Given the description of an element on the screen output the (x, y) to click on. 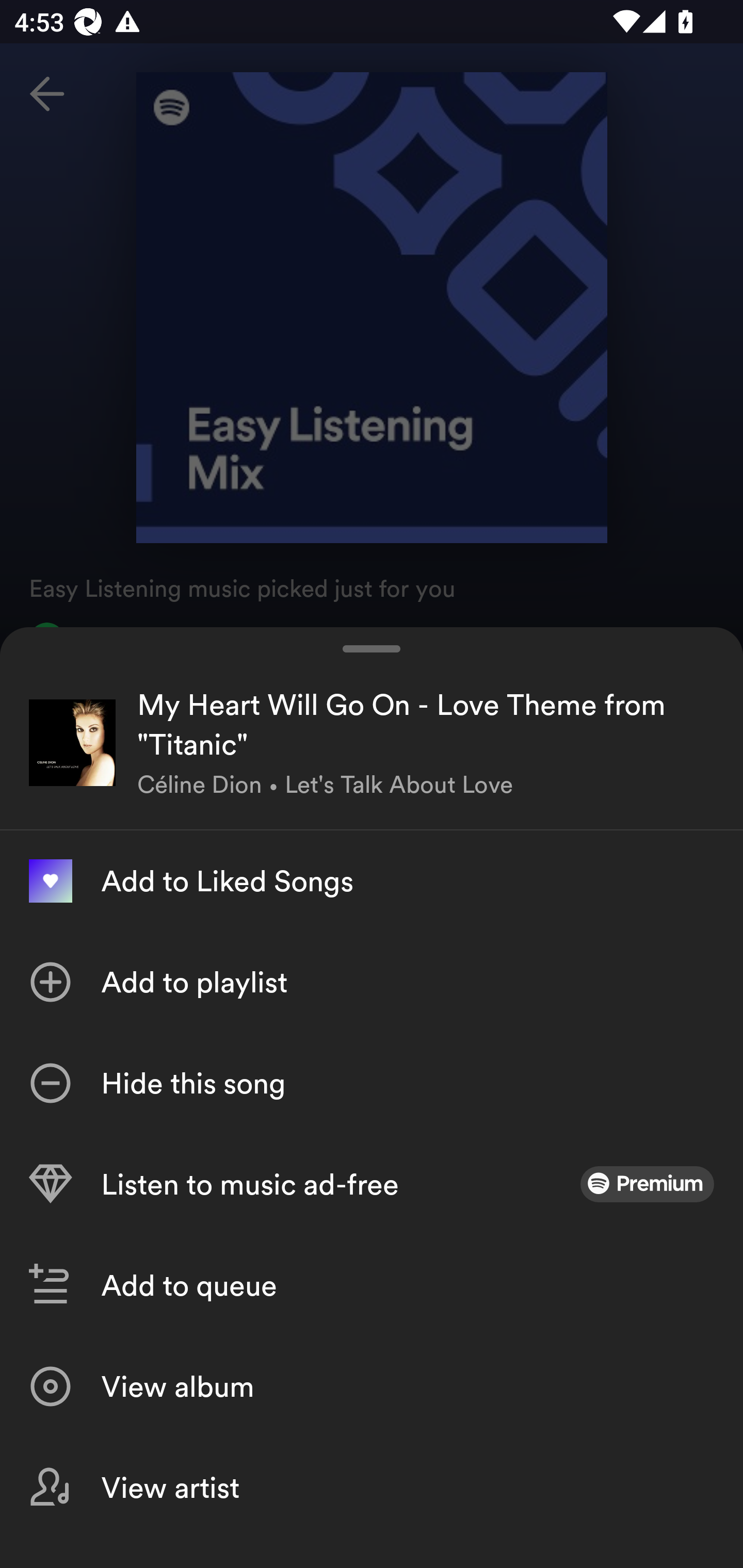
Add to Liked Songs (371, 881)
Add to playlist (371, 982)
Hide this song (371, 1083)
Listen to music ad-free (371, 1184)
Add to queue (371, 1285)
View album (371, 1385)
View artist (371, 1487)
